Given the description of an element on the screen output the (x, y) to click on. 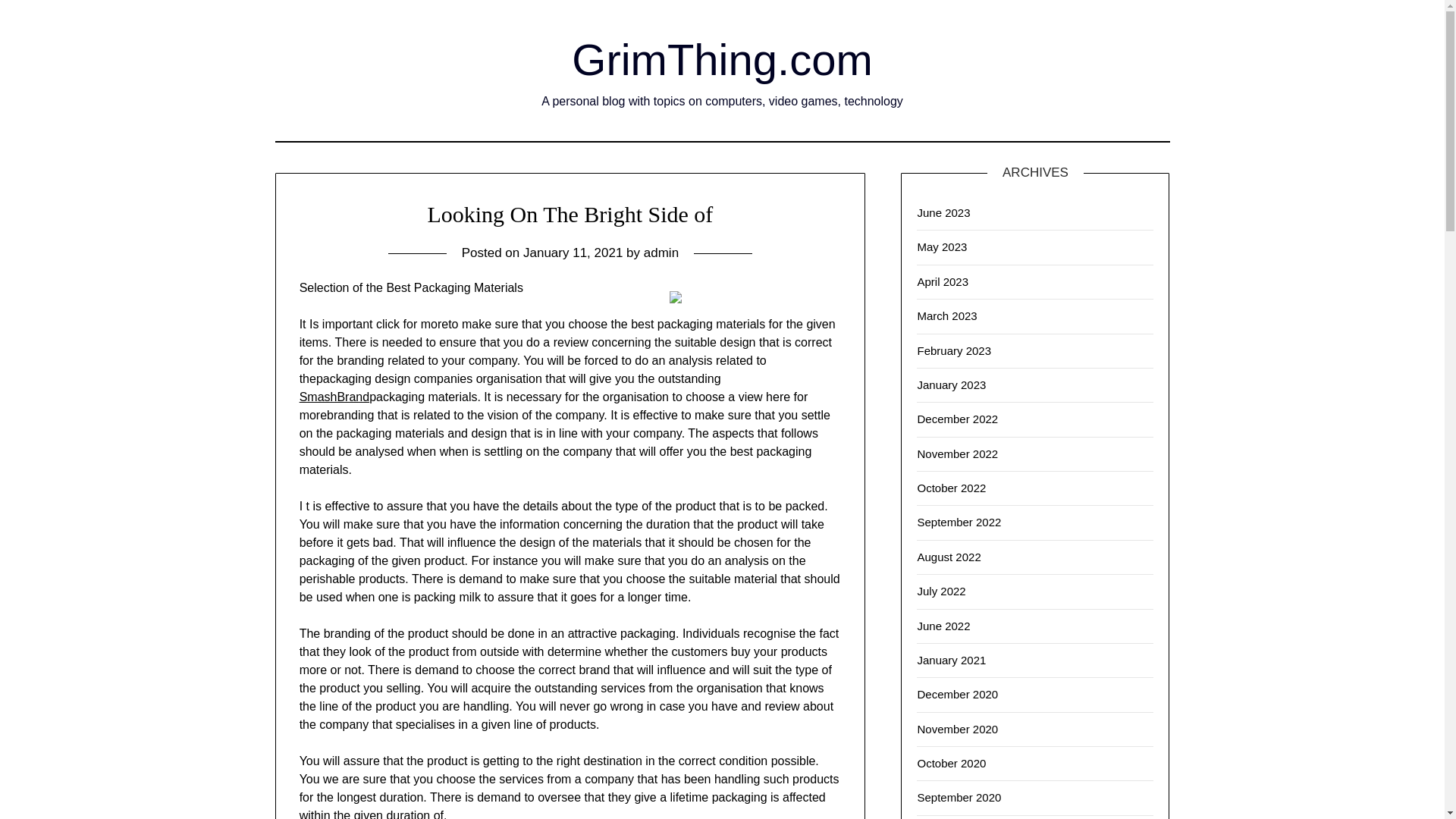
February 2023 (954, 350)
January 2023 (951, 384)
June 2023 (943, 212)
January 2021 (951, 659)
November 2022 (957, 453)
September 2022 (959, 521)
December 2020 (957, 694)
July 2022 (941, 590)
April 2023 (942, 281)
June 2022 (943, 625)
